Given the description of an element on the screen output the (x, y) to click on. 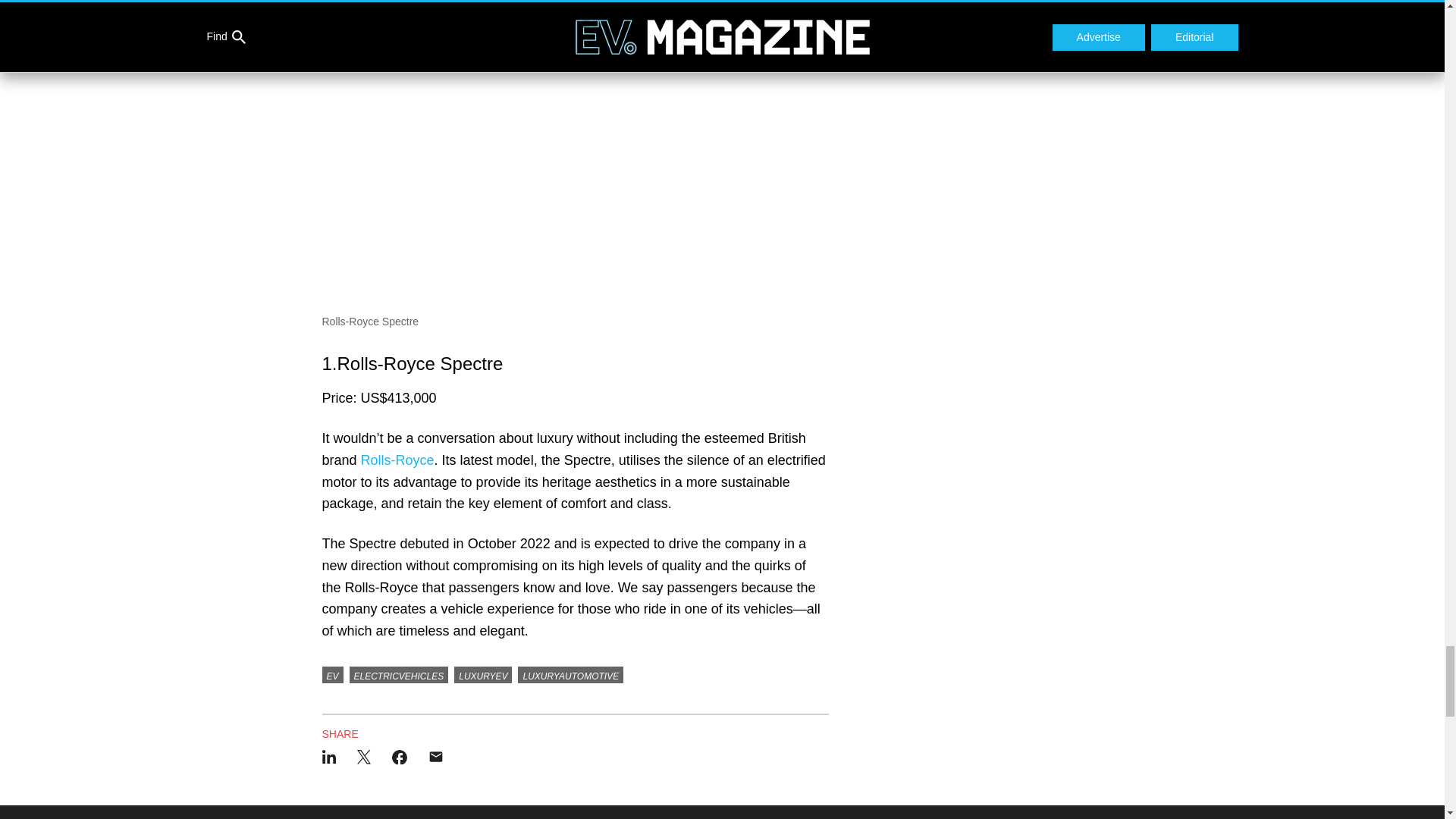
ELECTRICVEHICLES (398, 674)
EV (331, 674)
Rolls-Royce (397, 459)
LUXURYAUTOMOTIVE (570, 674)
LUXURYEV (483, 674)
